Given the description of an element on the screen output the (x, y) to click on. 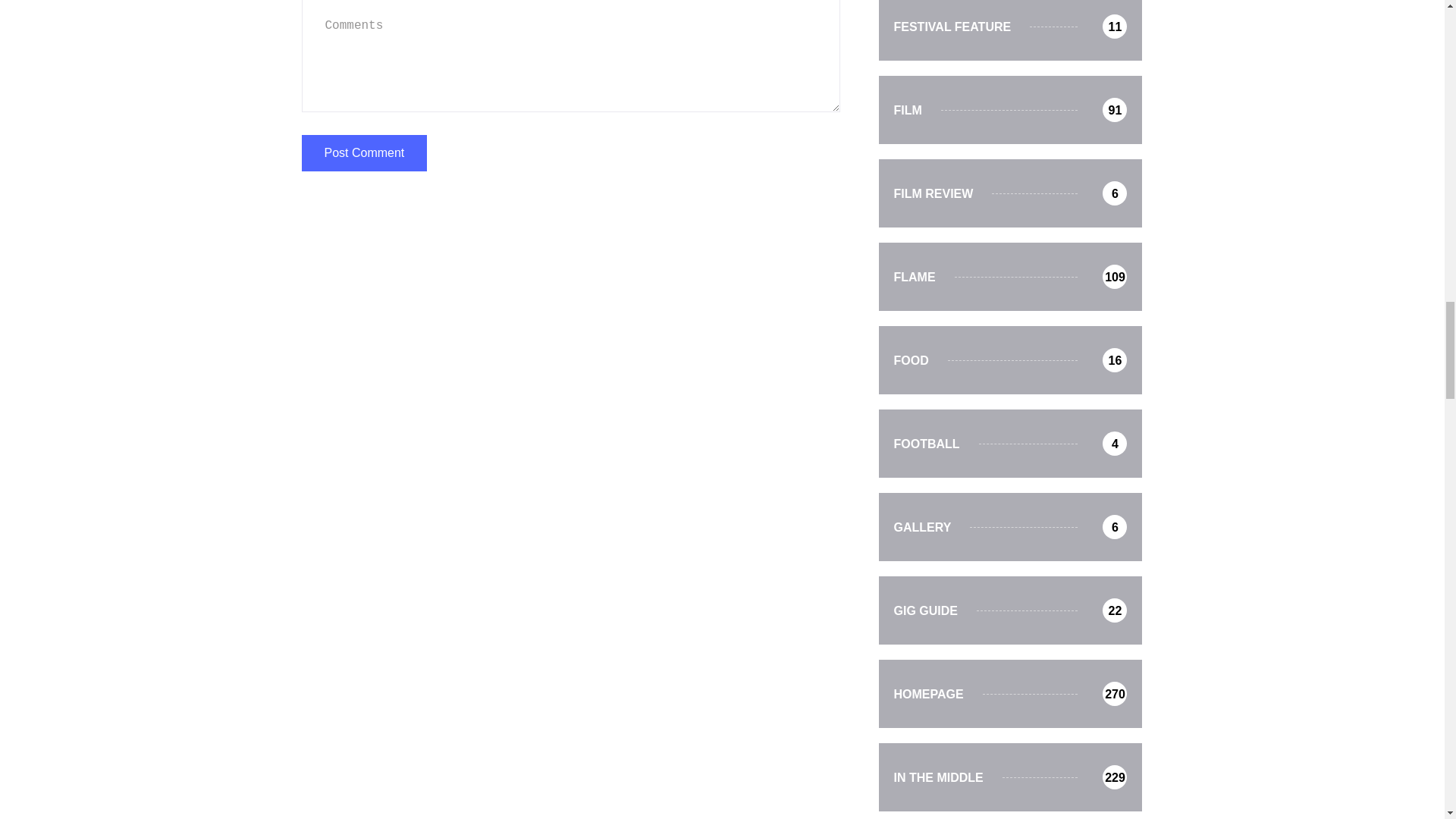
Post Comment (364, 153)
